Given the description of an element on the screen output the (x, y) to click on. 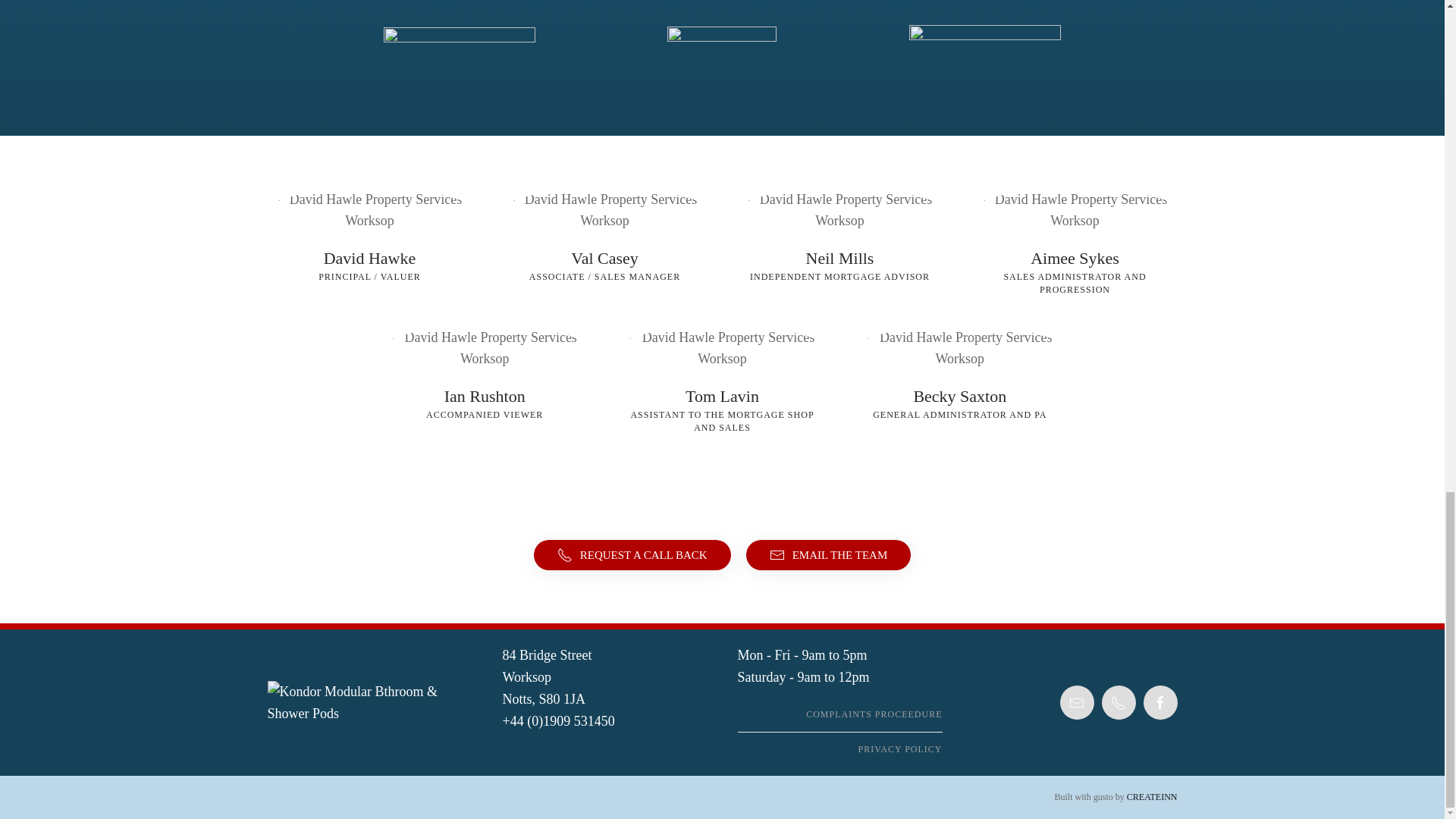
EMAIL THE TEAM (828, 554)
Createinn (1151, 796)
PRIVACY POLICY (839, 749)
REQUEST A CALL BACK (632, 554)
COMPLAINTS PROCEEDURE (839, 714)
CREATEINN (1151, 796)
